Given the description of an element on the screen output the (x, y) to click on. 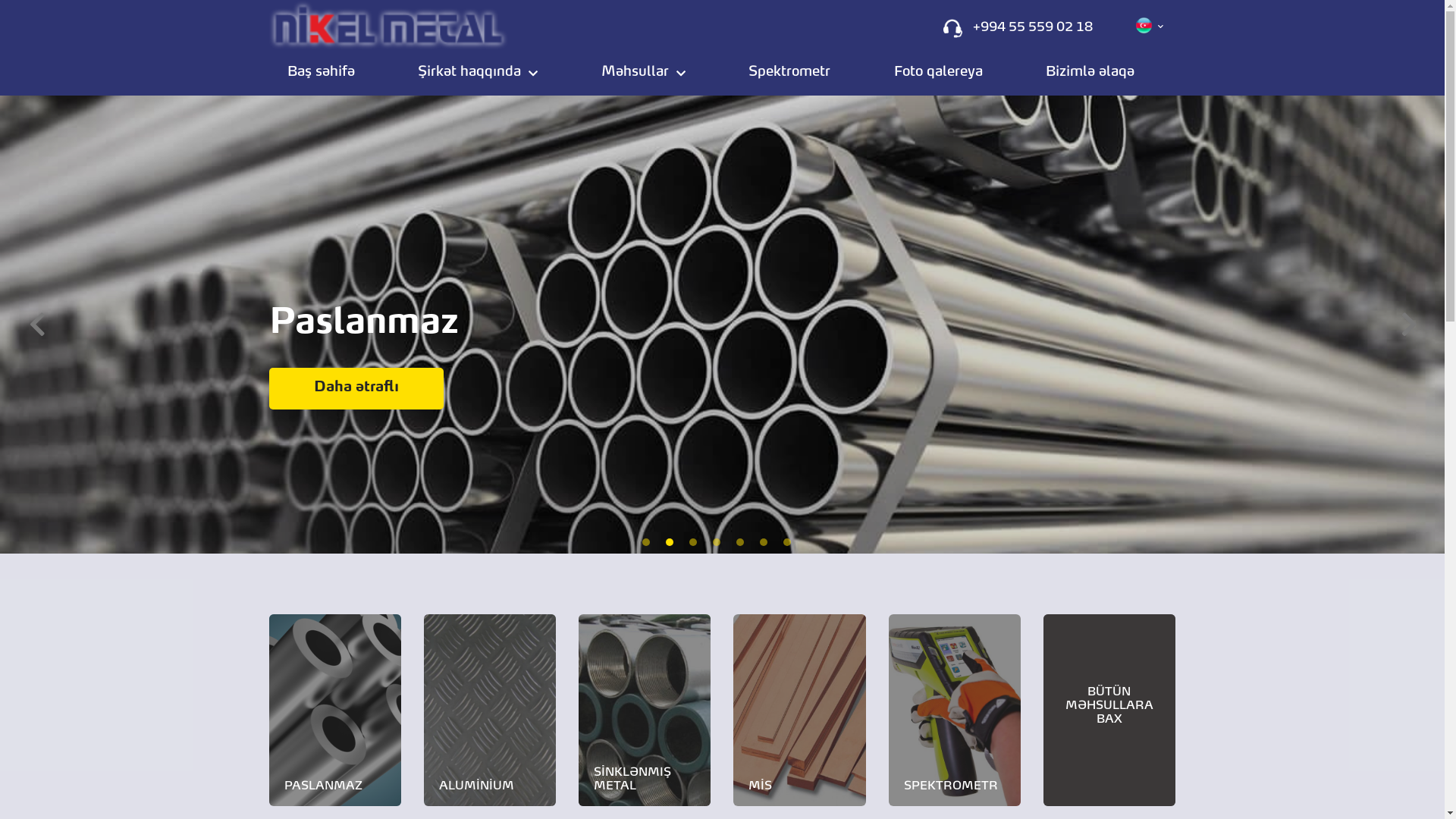
Next Element type: text (1408, 314)
Spektrometr Element type: text (789, 72)
Previous Element type: text (36, 314)
SPEKTROMETR Element type: text (954, 710)
Foto qalereya Element type: text (938, 72)
PASLANMAZ Element type: text (335, 710)
+994 55 559 02 18 Element type: text (1032, 27)
